Given the description of an element on the screen output the (x, y) to click on. 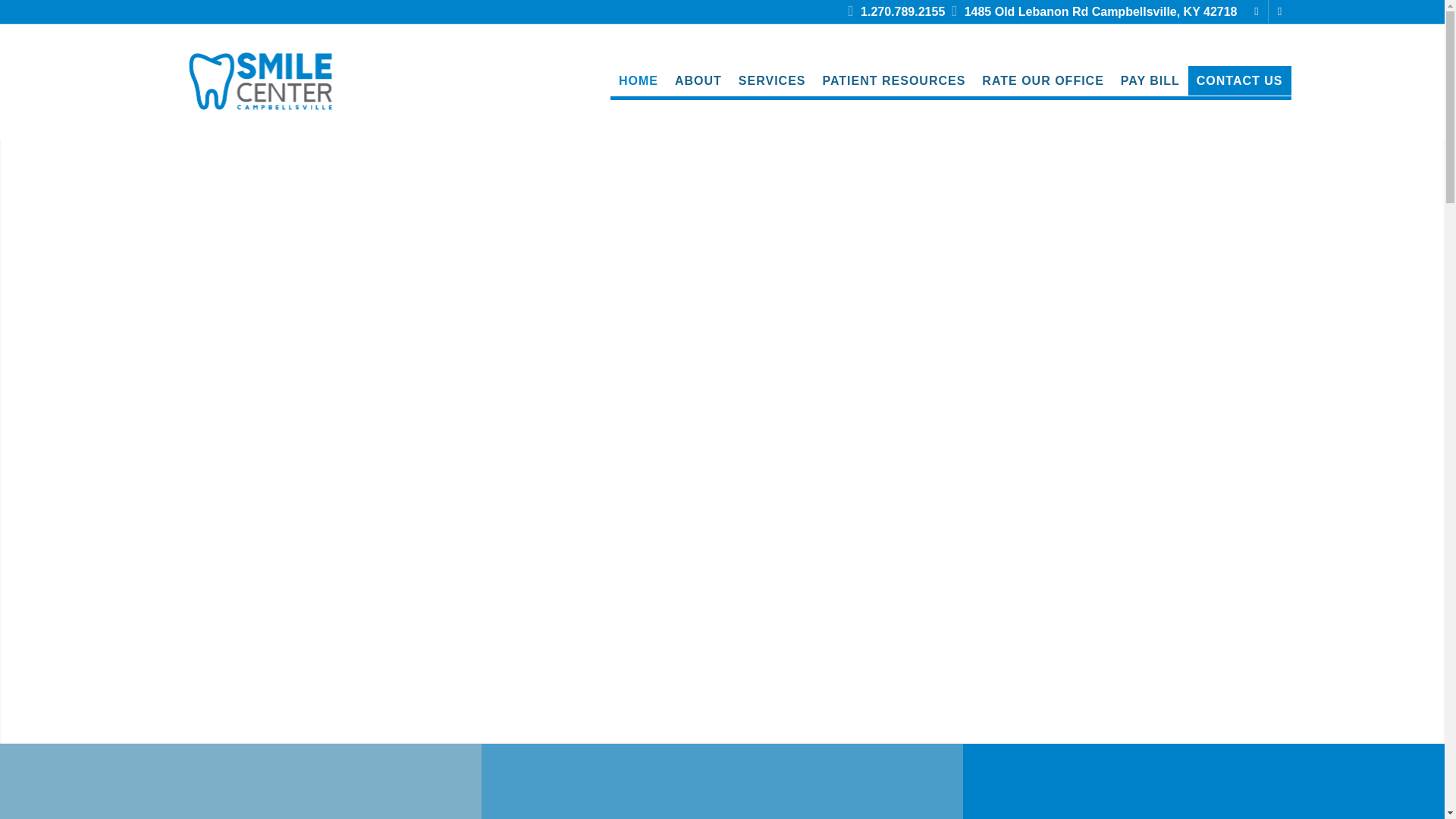
CONTACT US (1239, 81)
RATE OUR OFFICE (1043, 81)
Facebook (1255, 11)
Orthodontics (239, 788)
Aesthetics (1203, 788)
Instagram (1279, 11)
PATIENT RESOURCES (893, 81)
CEREC (721, 788)
